Given the description of an element on the screen output the (x, y) to click on. 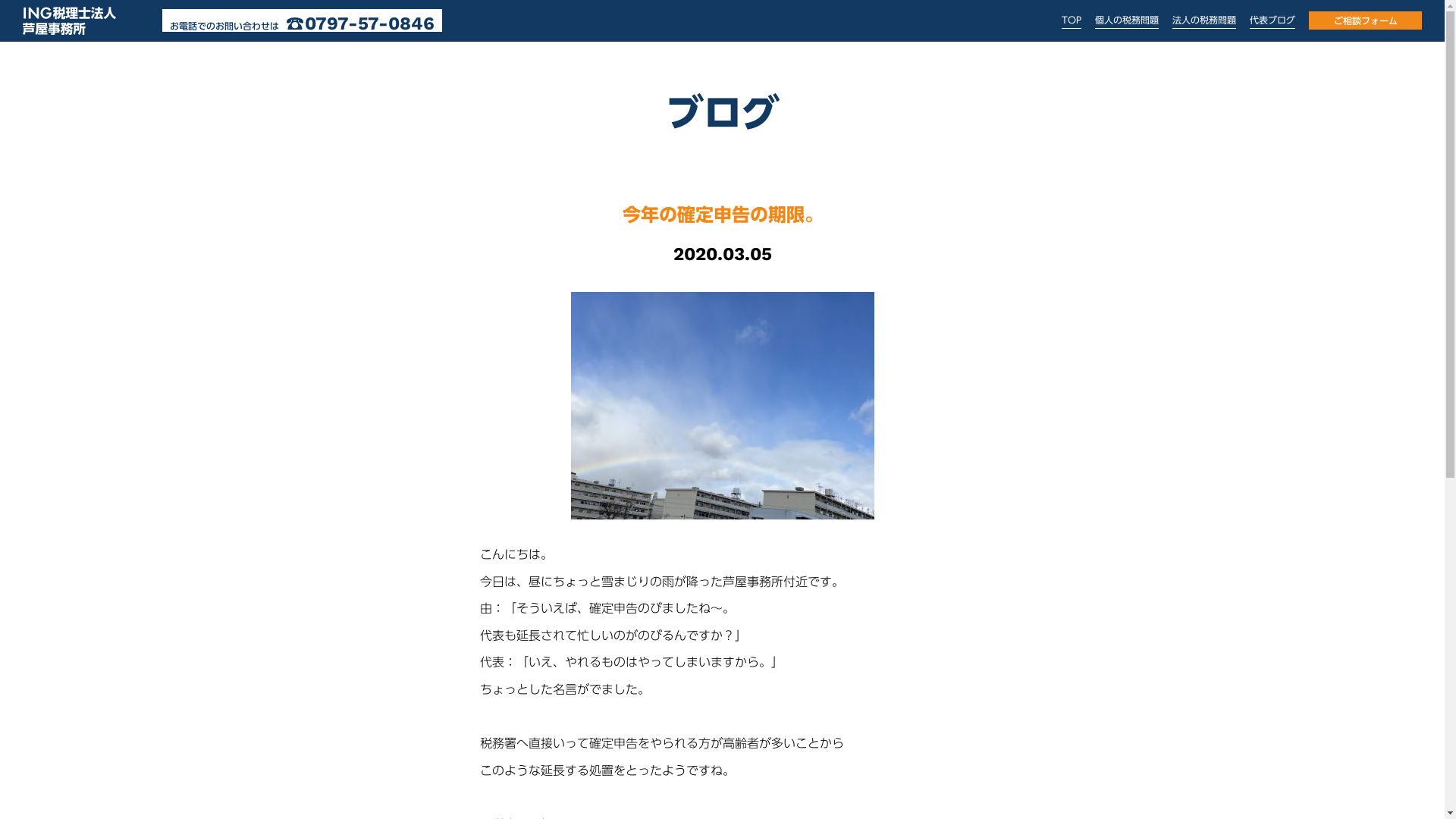
TOP Element type: text (1071, 19)
